Given the description of an element on the screen output the (x, y) to click on. 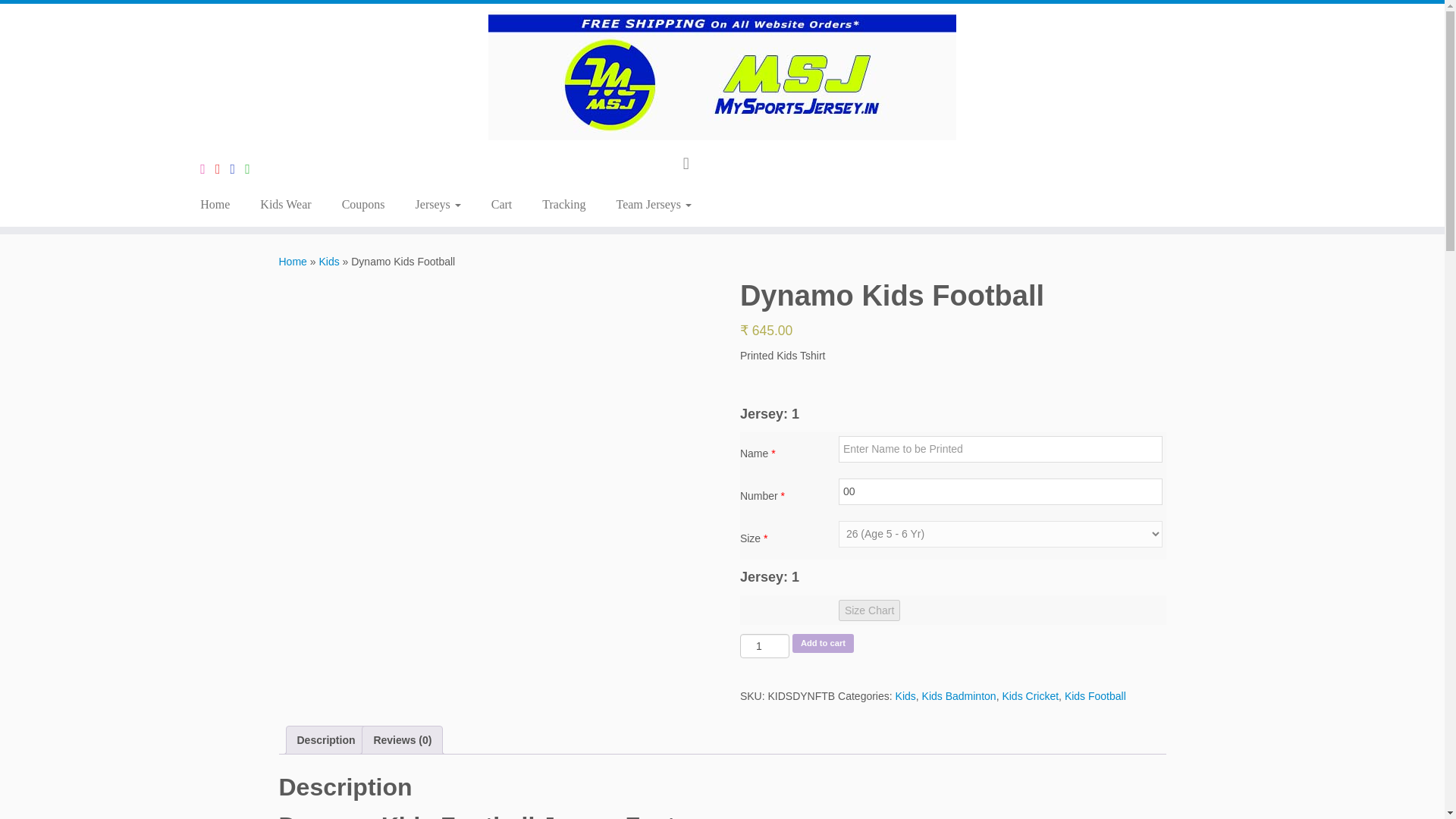
Follow us on Youtube (222, 168)
Kids Football (1094, 695)
Cart (501, 204)
Follow us on Whatsapp (252, 168)
Home (293, 261)
Kids (328, 261)
Team Jerseys (652, 204)
Follow me on Instagram (207, 168)
Kids (905, 695)
Tracking (563, 204)
Coupons (363, 204)
View your shopping cart (693, 161)
Size Chart (868, 609)
Kids (328, 261)
Kids Cricket (1029, 695)
